Given the description of an element on the screen output the (x, y) to click on. 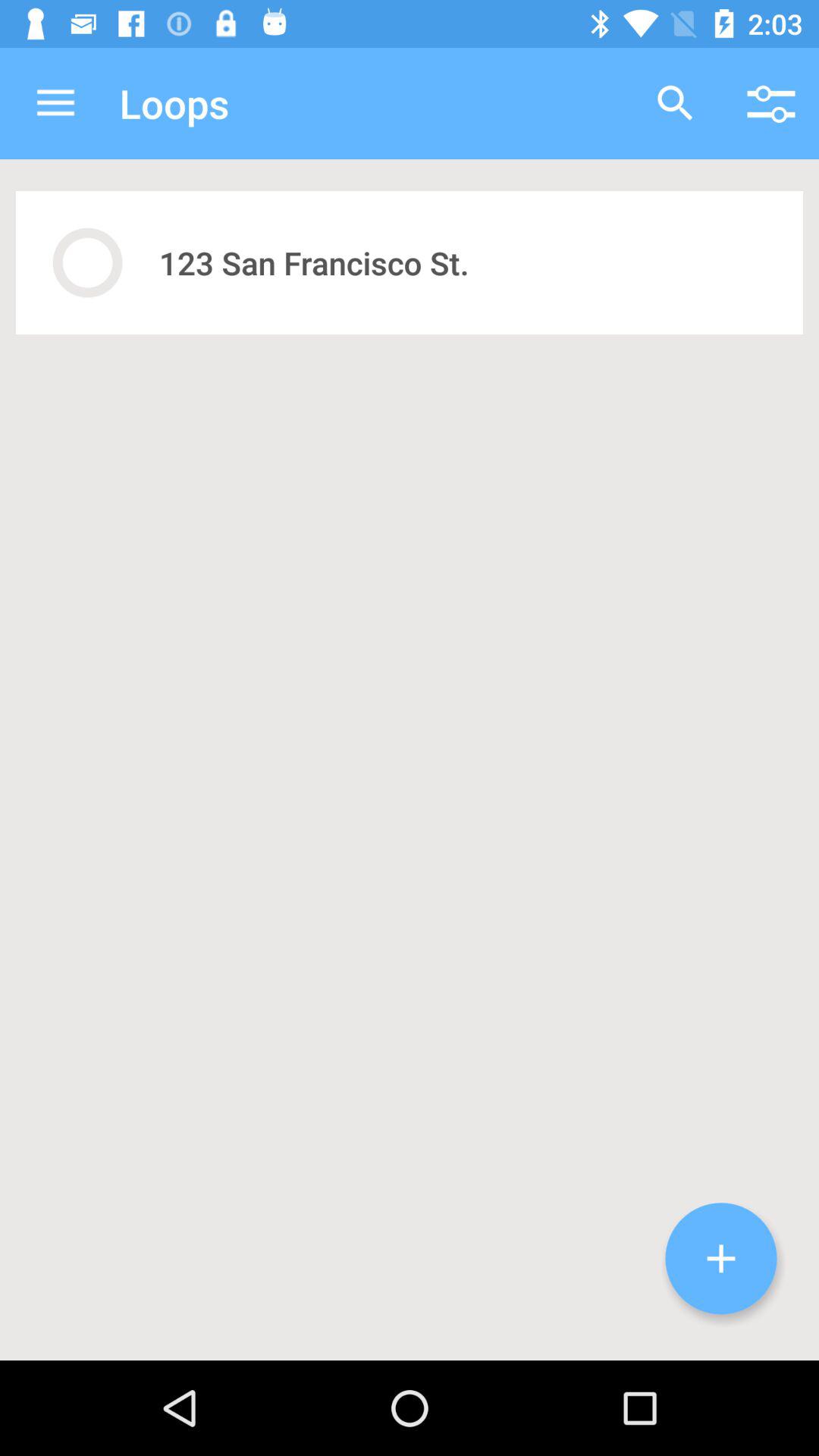
launch the icon below 123 san francisco item (721, 1258)
